Given the description of an element on the screen output the (x, y) to click on. 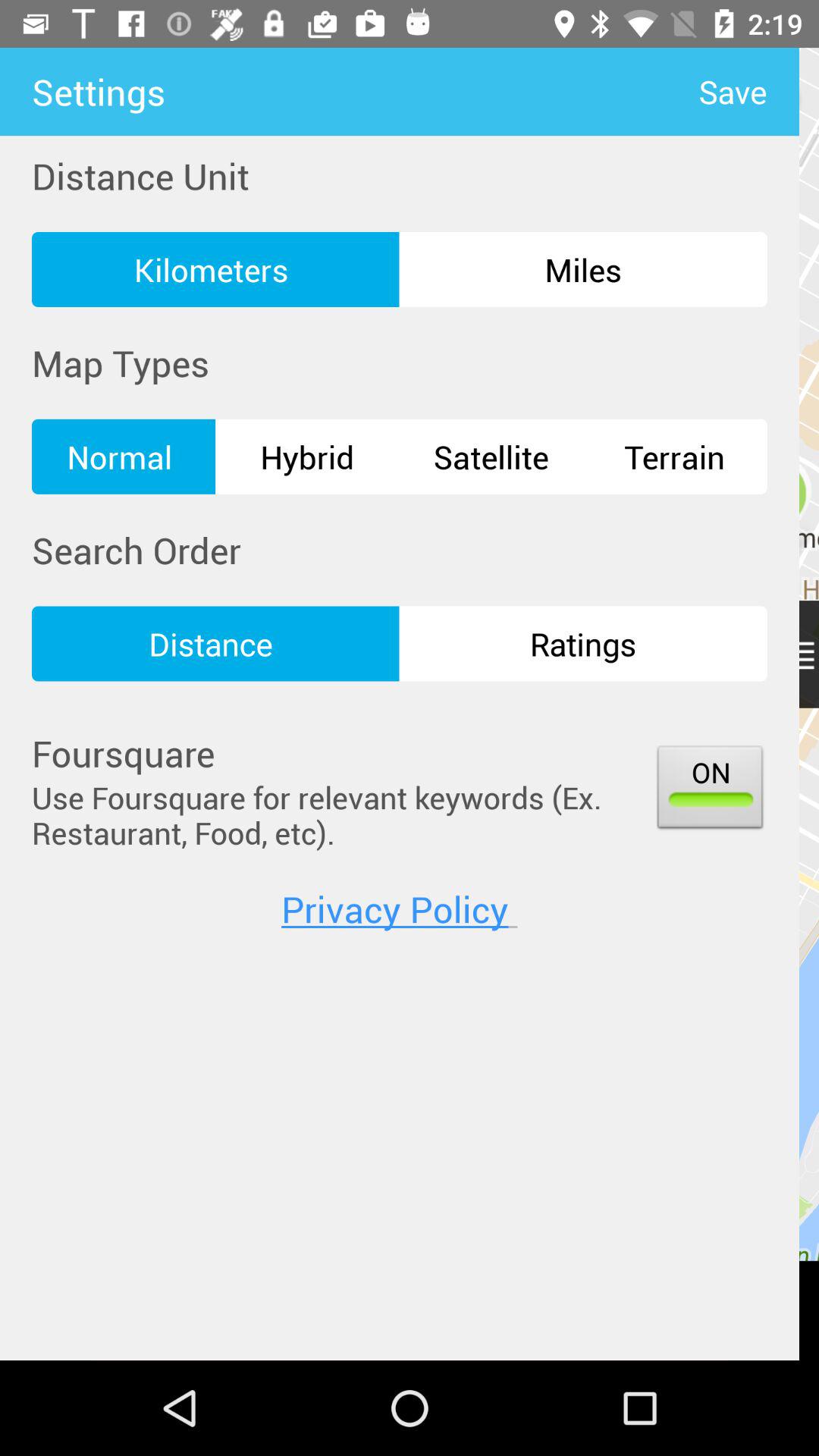
launch icon below ratings (710, 790)
